Given the description of an element on the screen output the (x, y) to click on. 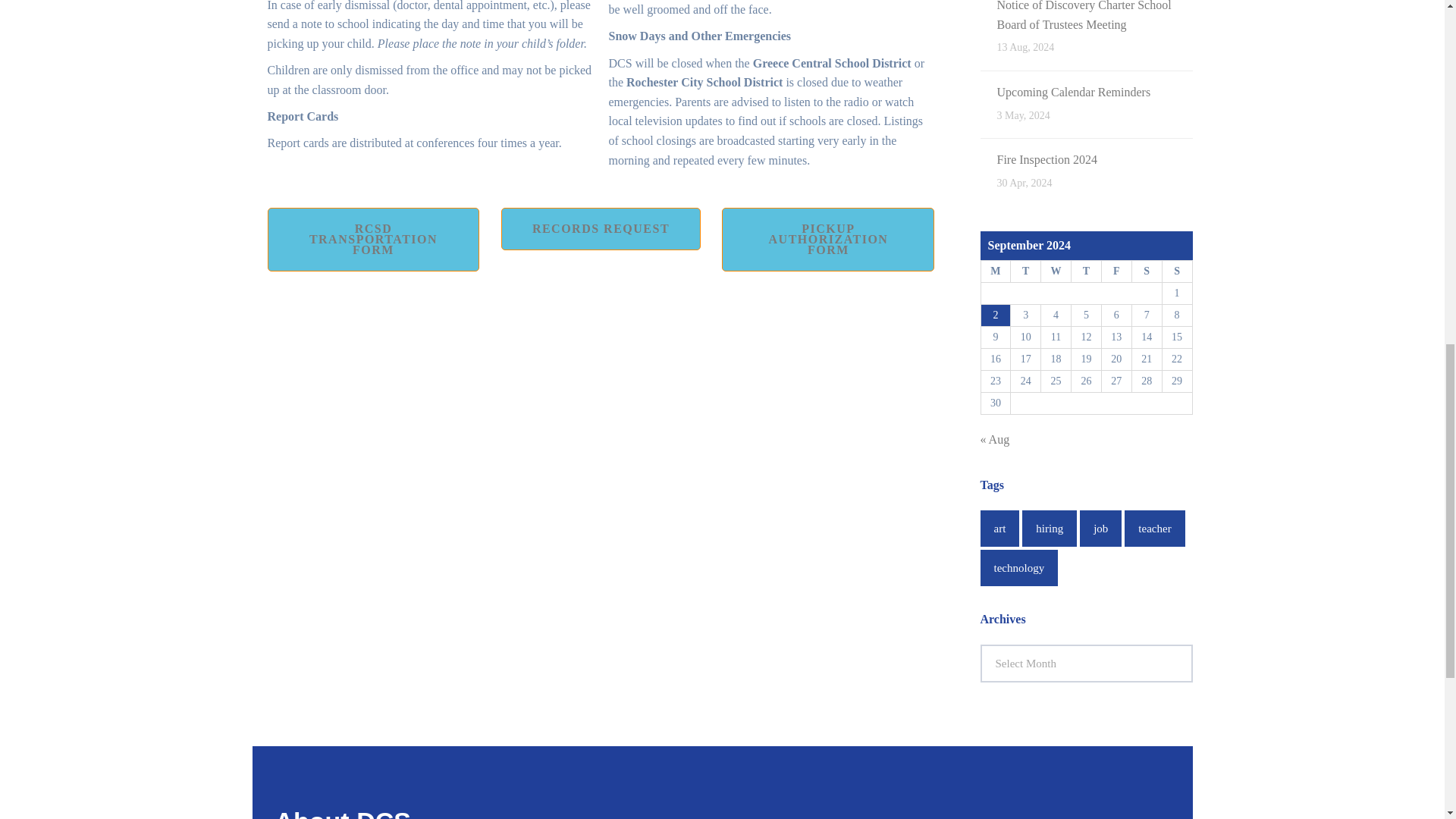
Monday (994, 271)
Notice of Discovery Charter School Board of Trustees Meeting (1082, 15)
Fire Inspection 2024 (1045, 159)
Sunday (1176, 271)
Upcoming Calendar Reminders (1072, 91)
Wednesday (1056, 271)
Friday (1115, 271)
Saturday (1146, 271)
Thursday (1086, 271)
Tuesday (1025, 271)
